Given the description of an element on the screen output the (x, y) to click on. 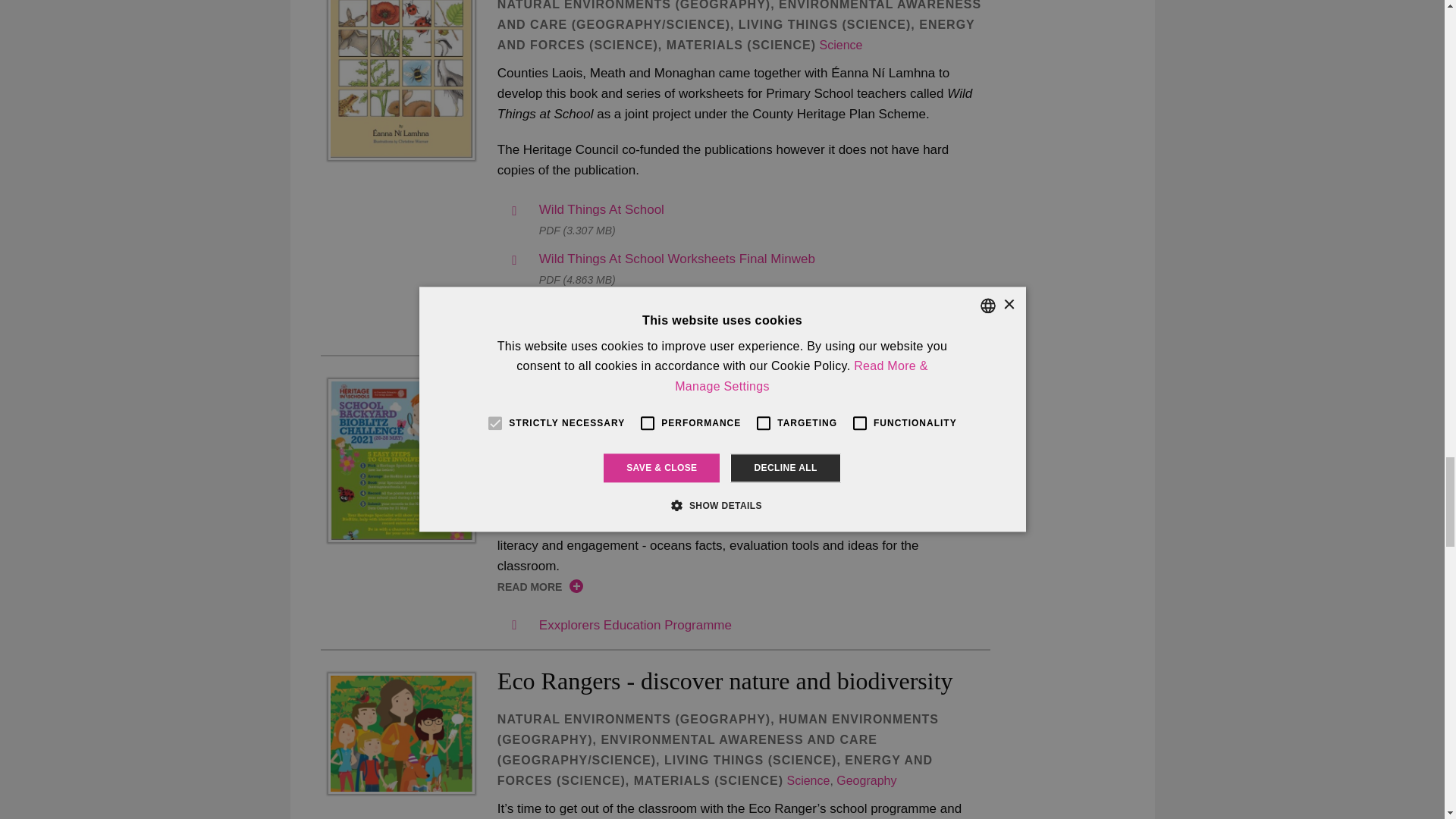
Eco Rangers - discover nature and biodiversity (400, 733)
